Given the description of an element on the screen output the (x, y) to click on. 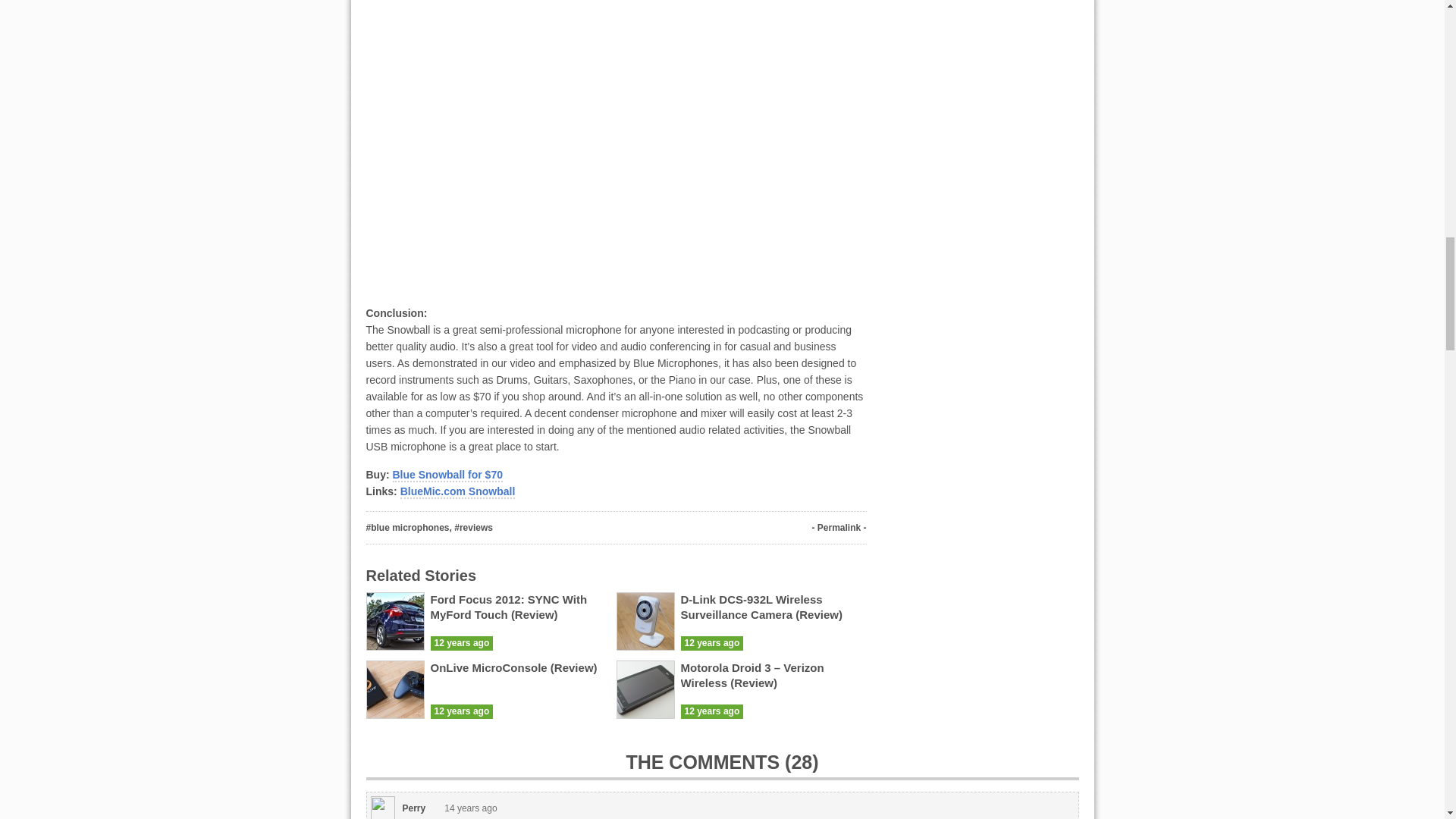
blue microphones (409, 527)
reviews (476, 527)
Permalink (838, 527)
BlueMic.com Snowball (457, 491)
